Given the description of an element on the screen output the (x, y) to click on. 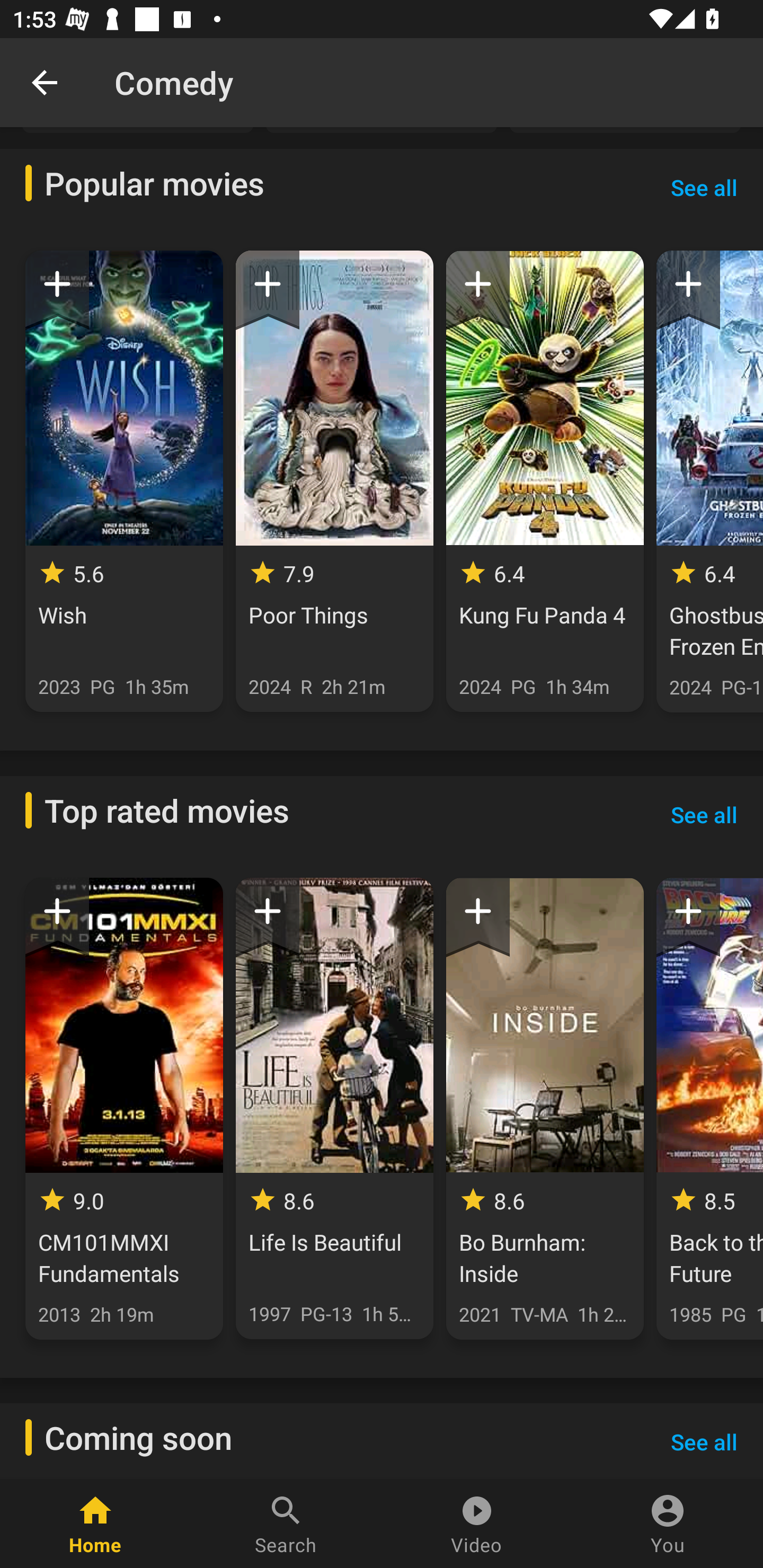
See all See all Popular movies (703, 186)
5.6 Wish 2023  PG  1h 35m (123, 480)
7.9 Poor Things 2024  R  2h 21m (334, 480)
6.4 Kung Fu Panda 4 2024  PG  1h 34m (544, 480)
See all See all Top rated movies (703, 814)
9.0 CM101MMXI Fundamentals 2013  2h 19m (123, 1108)
8.6 Life Is Beautiful 1997  PG-13  1h 56m (334, 1108)
8.6 Bo Burnham: Inside 2021  TV-MA  1h 27m (544, 1108)
See all See all Coming soon (703, 1440)
Search (285, 1523)
Video (476, 1523)
You (667, 1523)
